Given the description of an element on the screen output the (x, y) to click on. 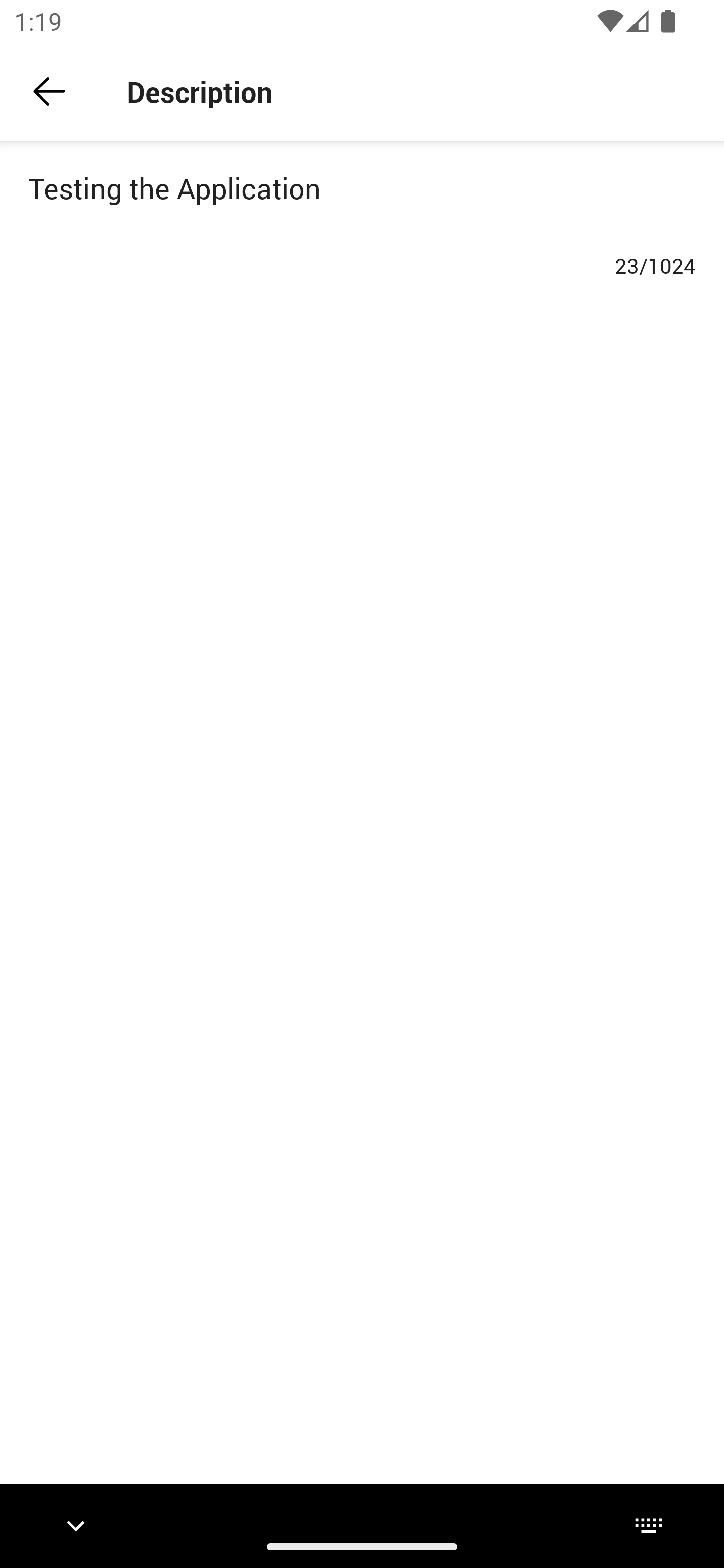
Back (49, 91)
Testing the Application (361, 206)
